Given the description of an element on the screen output the (x, y) to click on. 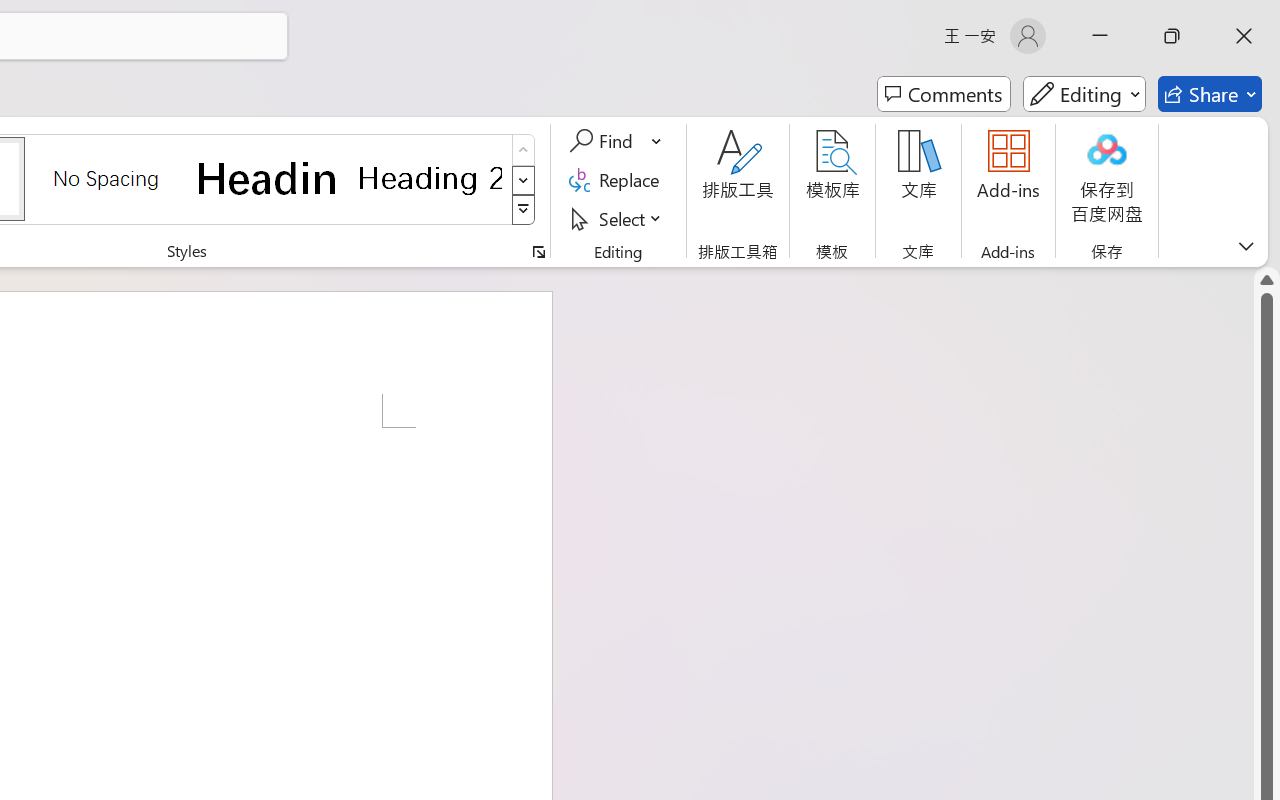
Styles... (538, 252)
Row up (523, 150)
Replace... (617, 179)
Heading 1 (267, 178)
